Given the description of an element on the screen output the (x, y) to click on. 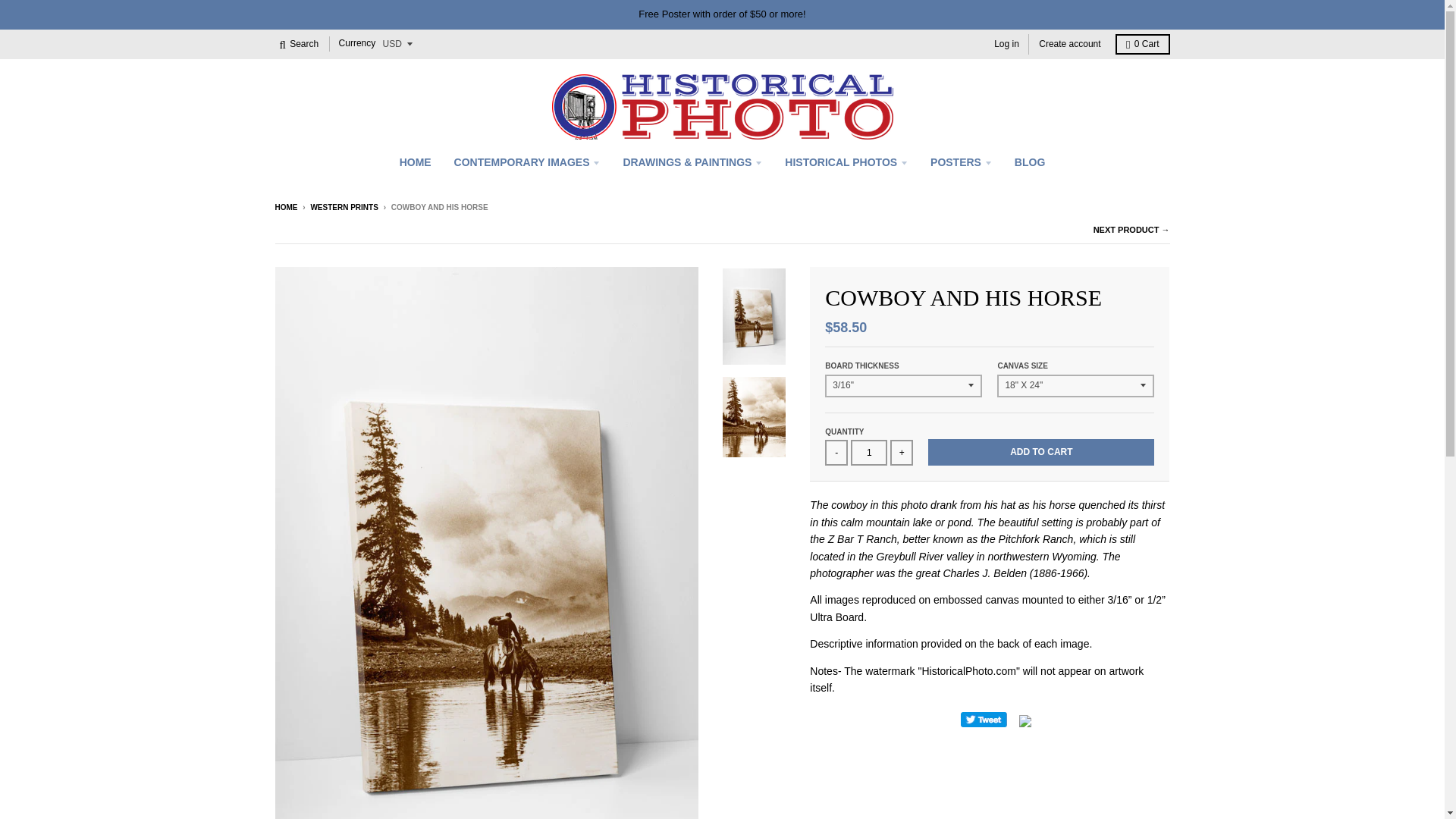
1 (868, 452)
Search (299, 44)
Back to the frontpage (286, 207)
POSTERS (960, 162)
HISTORICAL PHOTOS (845, 162)
HOME (415, 162)
CONTEMPORARY IMAGES (527, 162)
Log in (1006, 44)
Create account (1069, 44)
0 Cart (1142, 44)
